Given the description of an element on the screen output the (x, y) to click on. 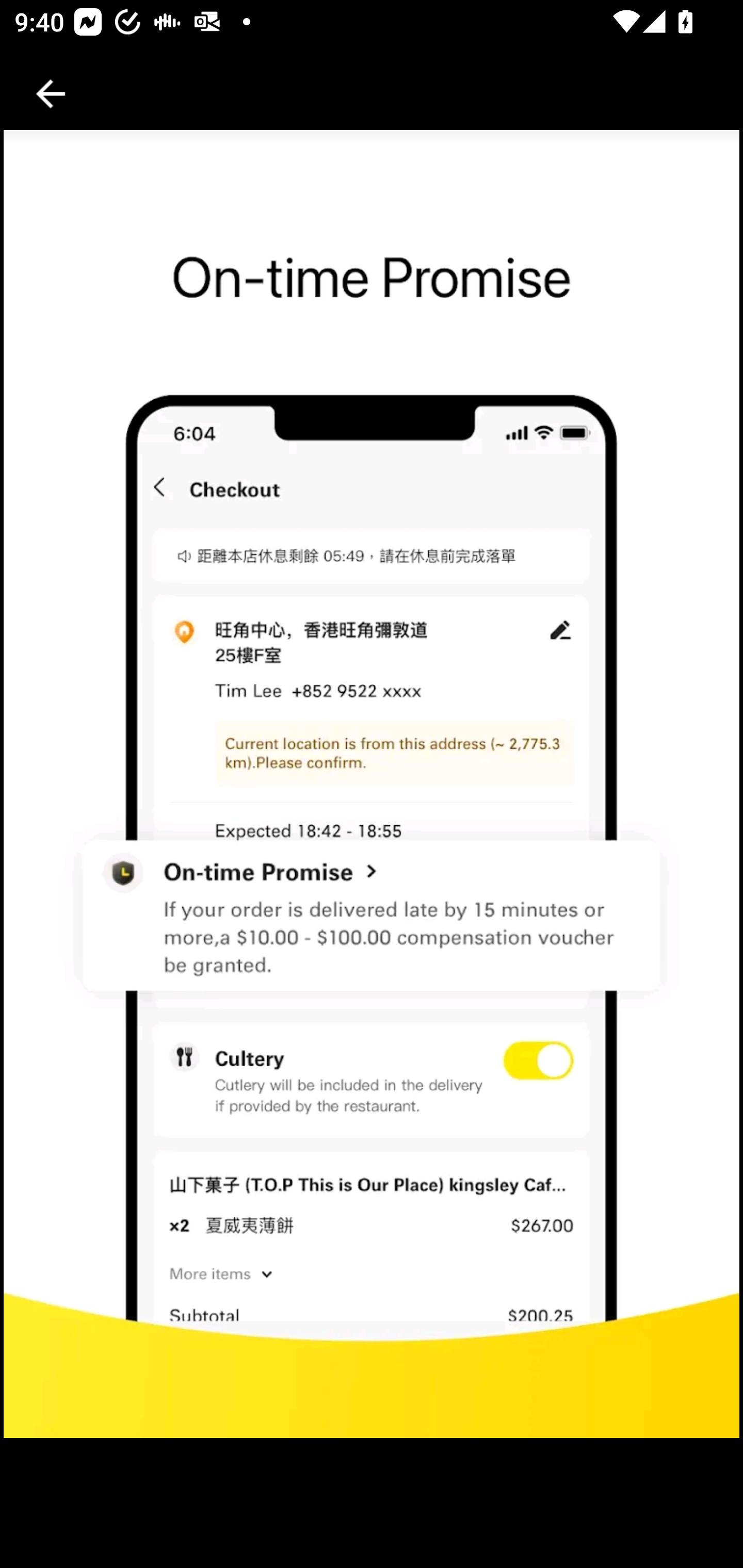
Back (50, 93)
